Given the description of an element on the screen output the (x, y) to click on. 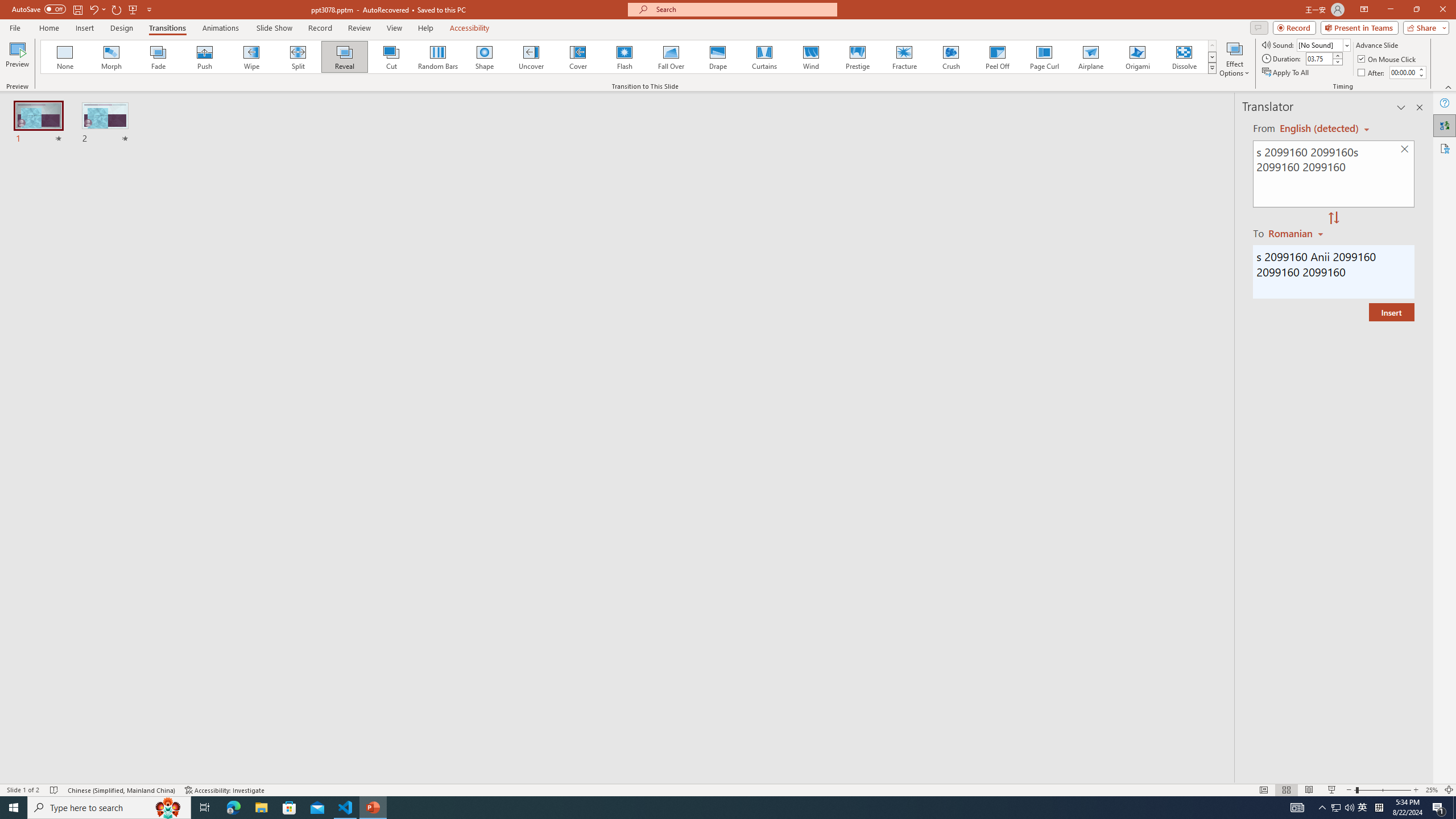
Transition Effects (1212, 67)
After (1403, 72)
Zoom 25% (1431, 790)
AutomationID: AnimationTransitionGallery (628, 56)
Dissolve (1183, 56)
Fall Over (670, 56)
